Given the description of an element on the screen output the (x, y) to click on. 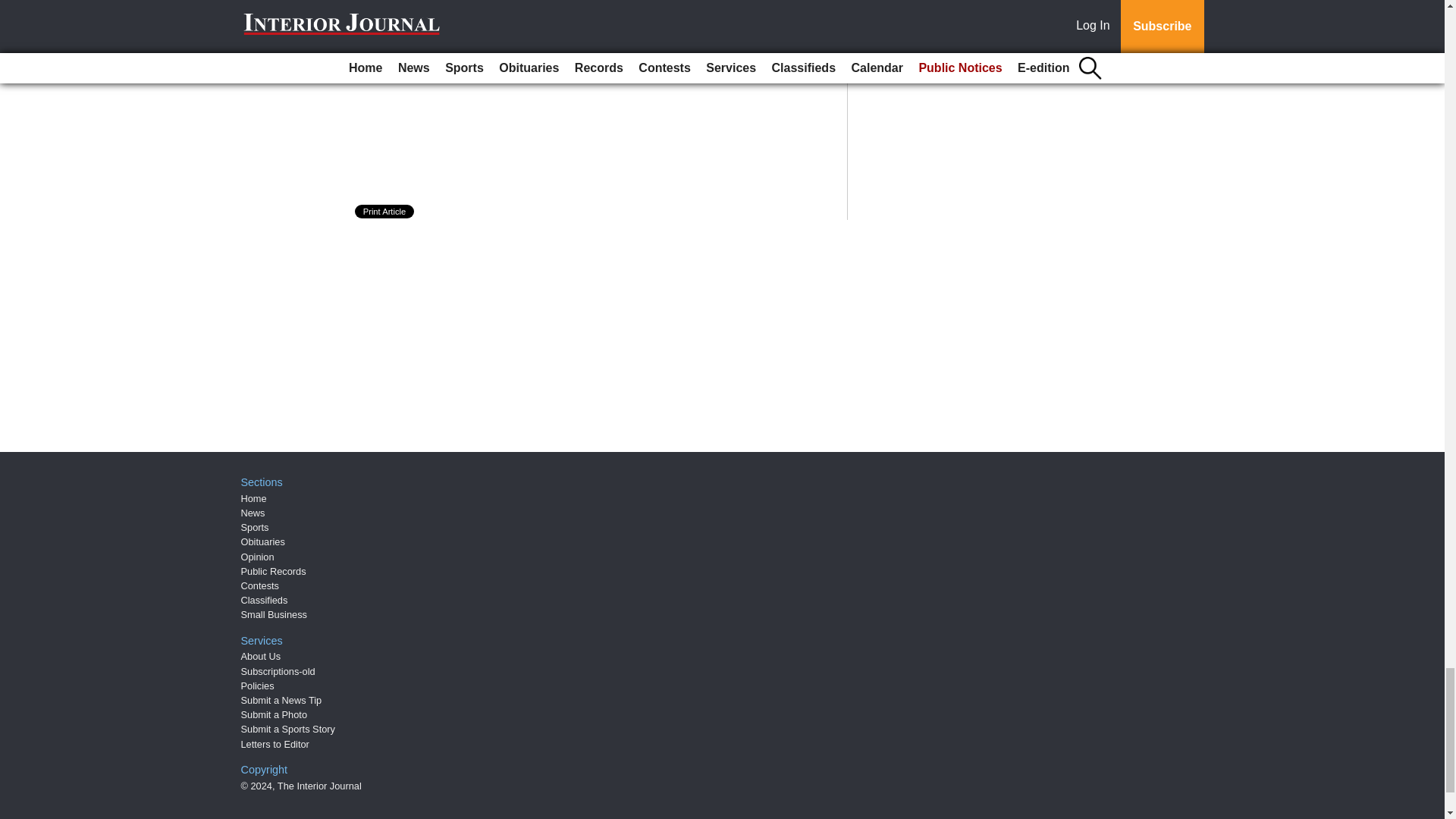
Sports (255, 527)
Print Article (384, 211)
Home (253, 498)
Obituaries (263, 541)
News (252, 512)
